Given the description of an element on the screen output the (x, y) to click on. 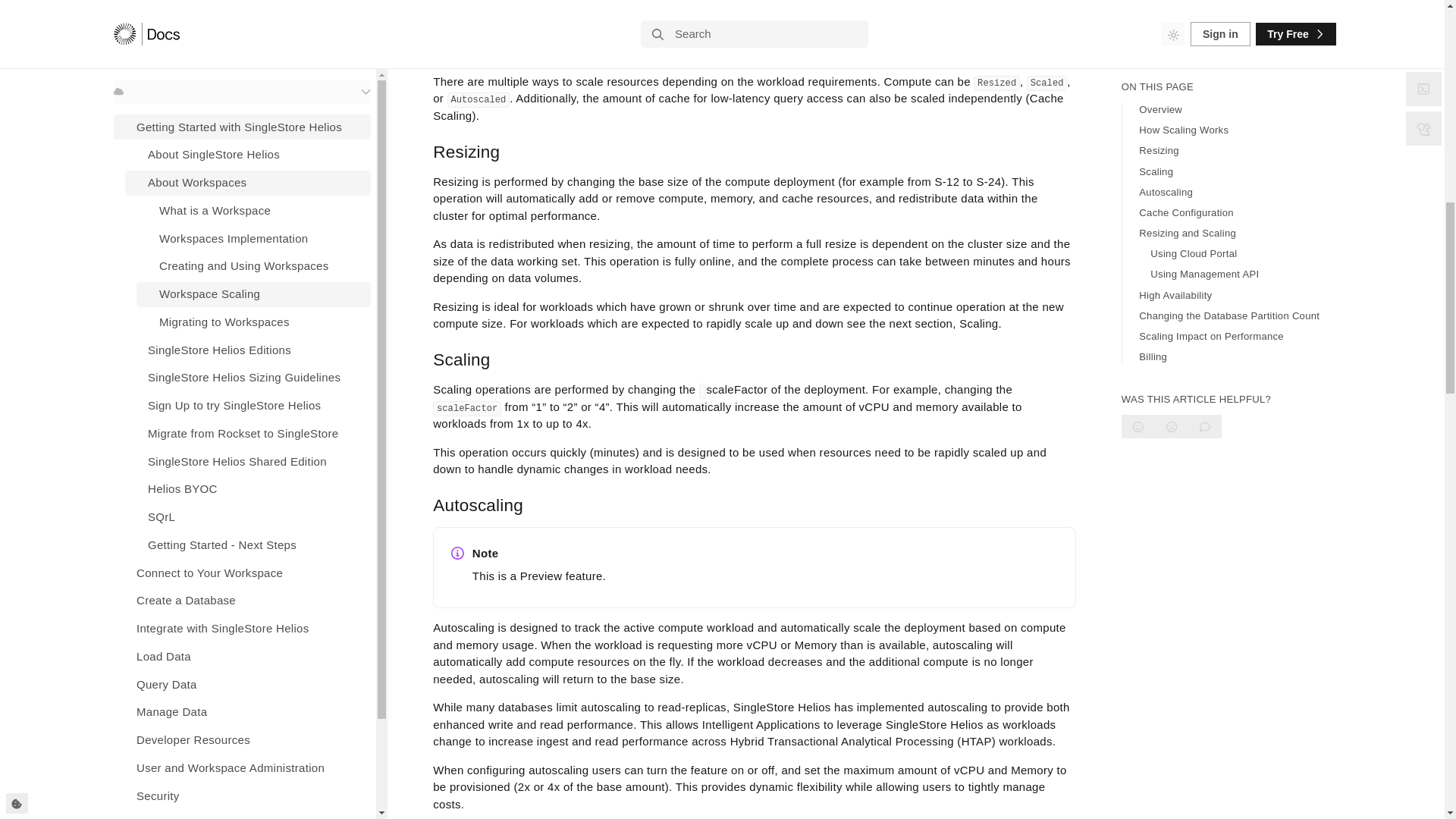
Reference (242, 8)
Glossary (242, 88)
Release Notes (242, 32)
Support (242, 59)
